Given the description of an element on the screen output the (x, y) to click on. 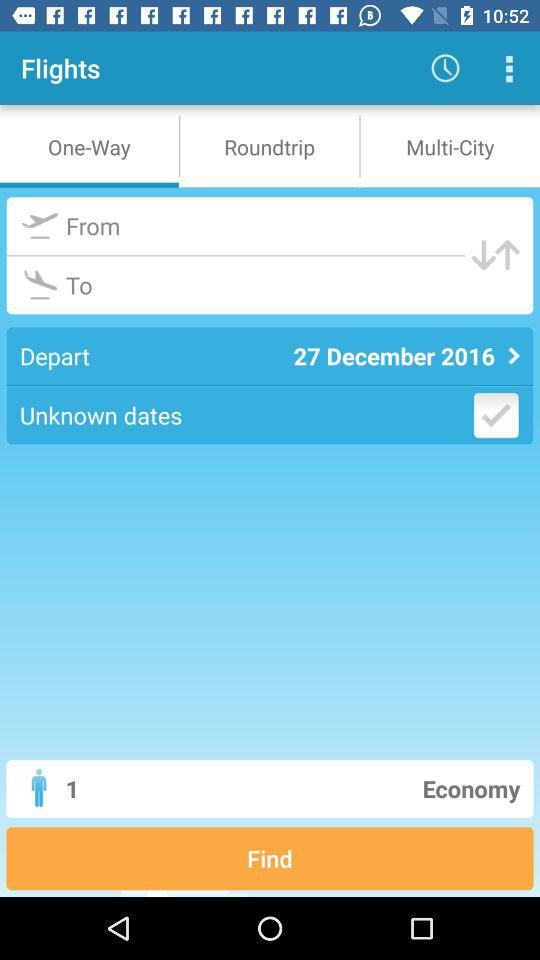
select unkown dates (496, 415)
